Given the description of an element on the screen output the (x, y) to click on. 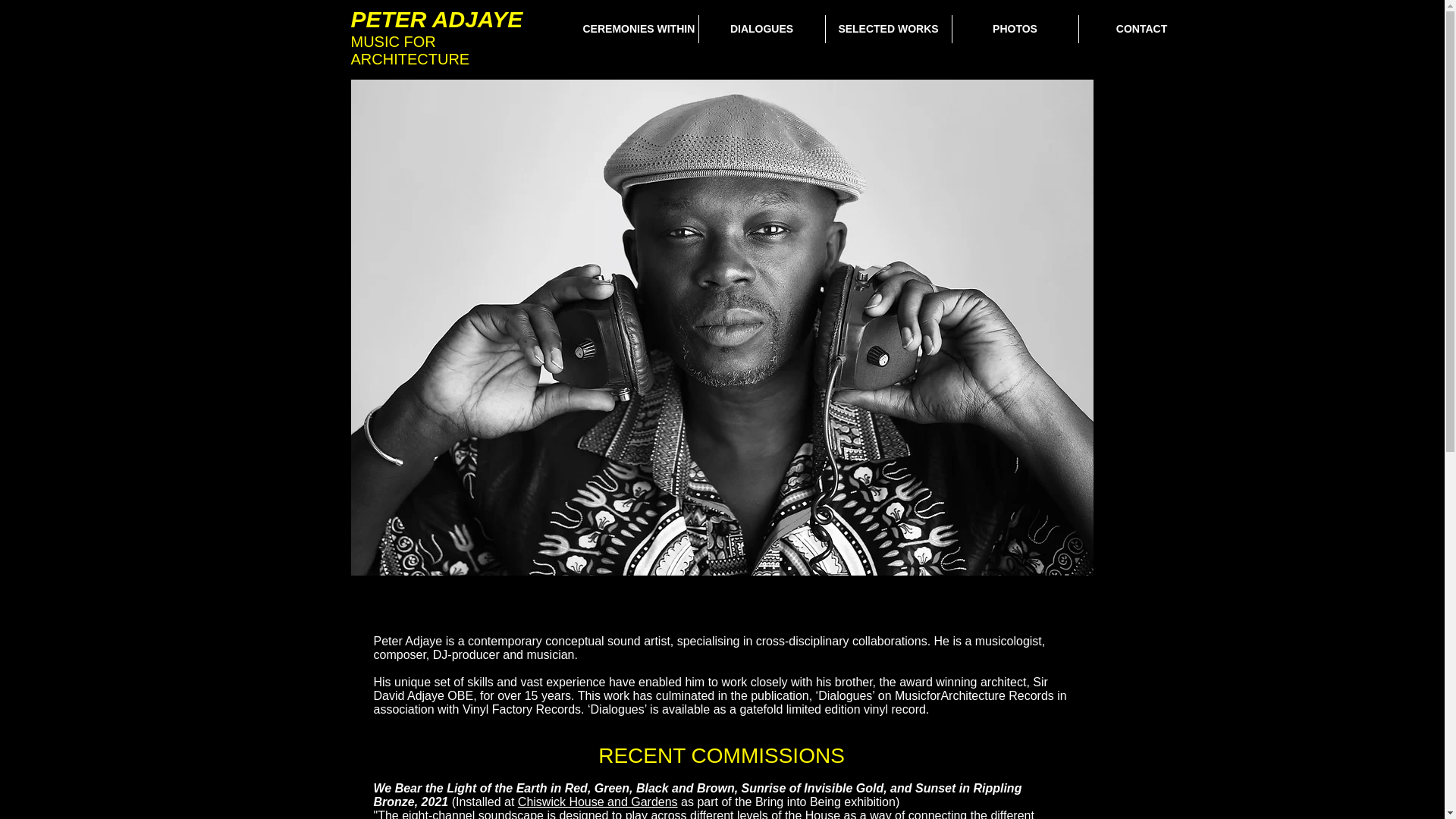
DIALOGUES (761, 29)
CONTACT (1141, 29)
Chiswick House and Gardens (598, 801)
SELECTED WORKS (887, 29)
PHOTOS (1015, 29)
PETER ADJAYE (436, 18)
CEREMONIES WITHIN (635, 29)
